Given the description of an element on the screen output the (x, y) to click on. 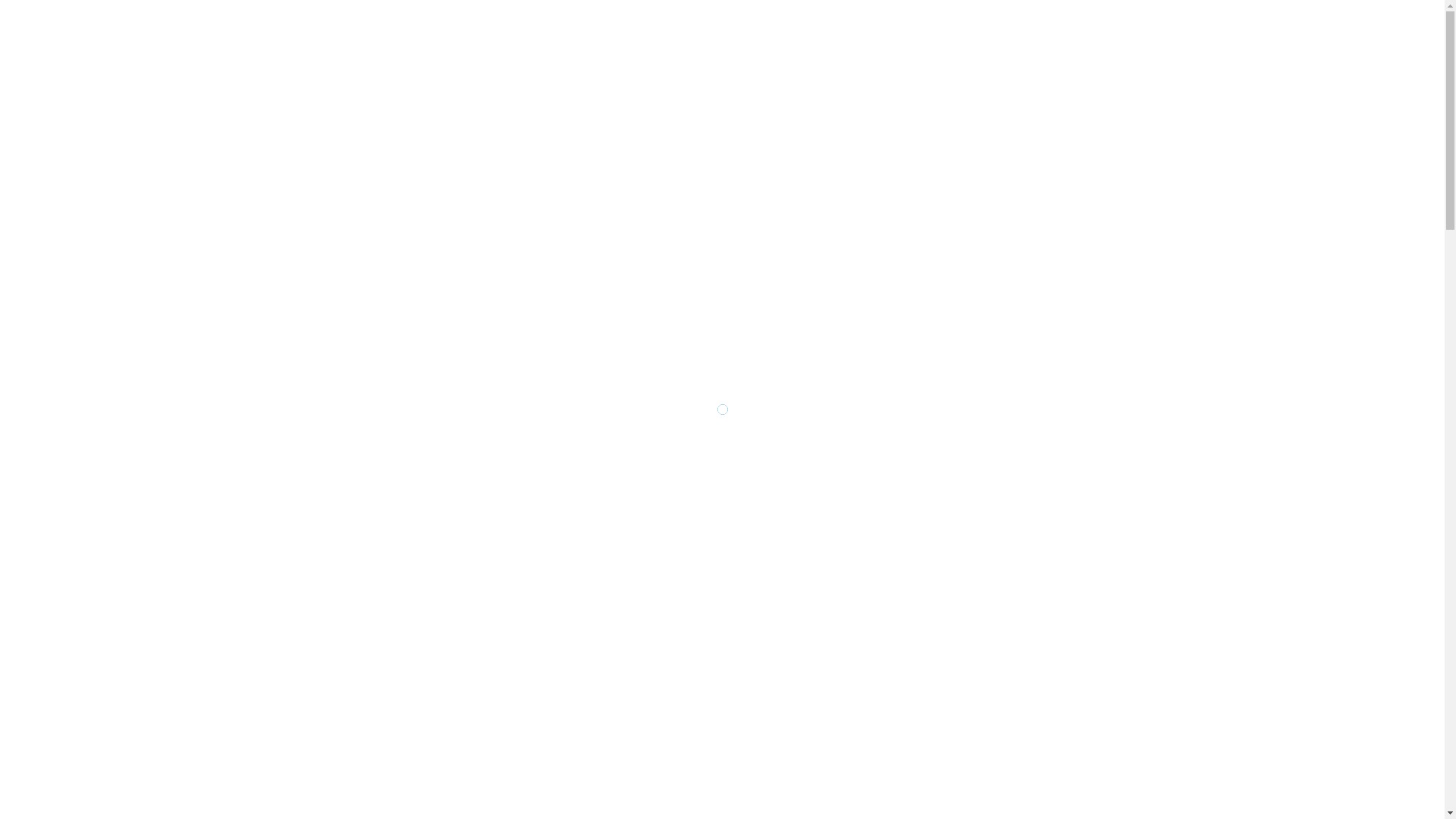
1300 436 569 Element type: text (1120, 58)
My WordPress Blog Element type: hover (404, 59)
